Given the description of an element on the screen output the (x, y) to click on. 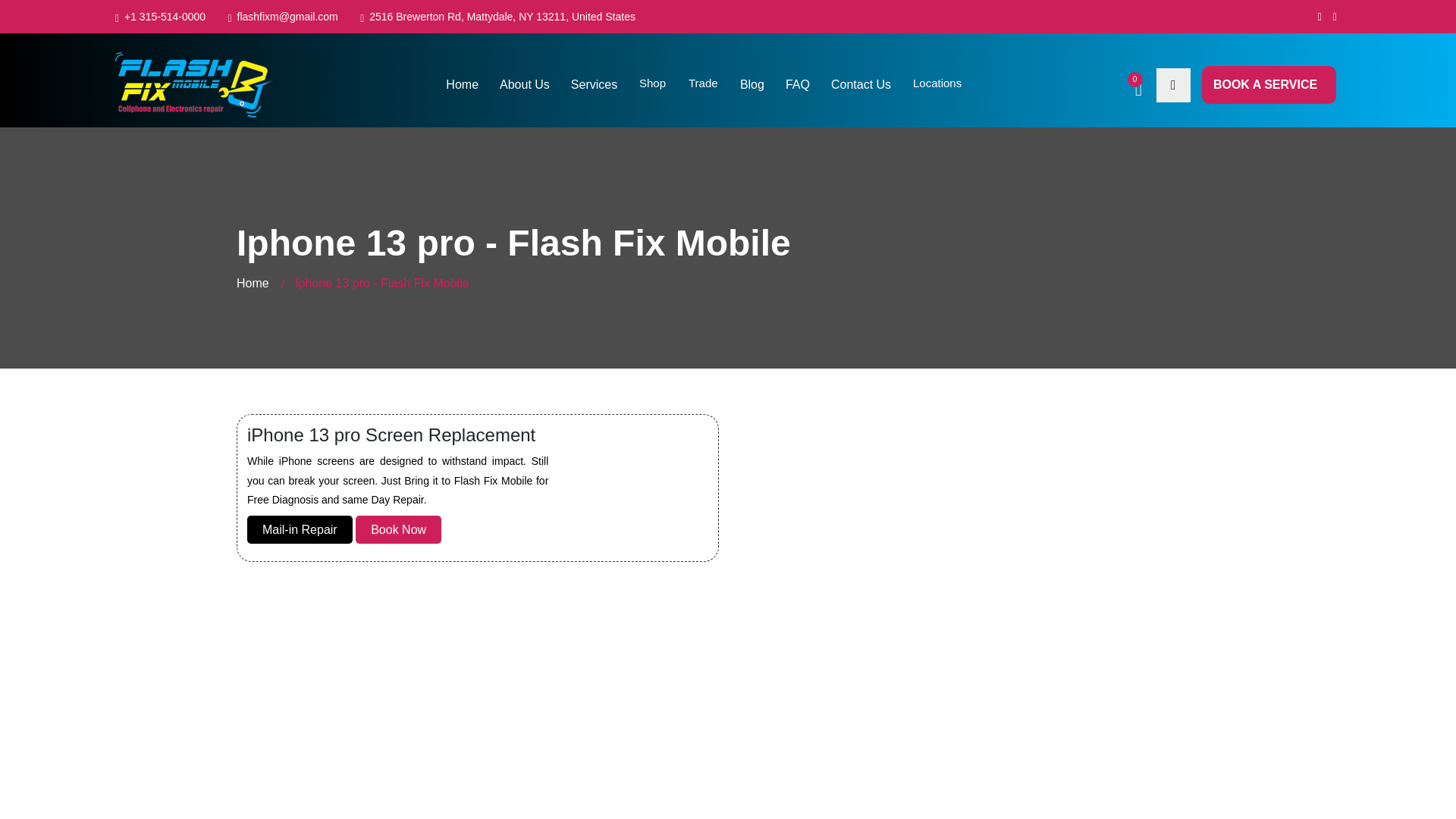
Book Now (398, 529)
Locations (936, 83)
2516 Brewerton Rd, Mattydale, NY 13211, United States (501, 16)
Blog (751, 85)
Mail-in Repair (299, 529)
Contact Us (861, 85)
BOOK A SERVICE (1269, 85)
Services (593, 85)
Trade (703, 83)
About Us (524, 85)
